Given the description of an element on the screen output the (x, y) to click on. 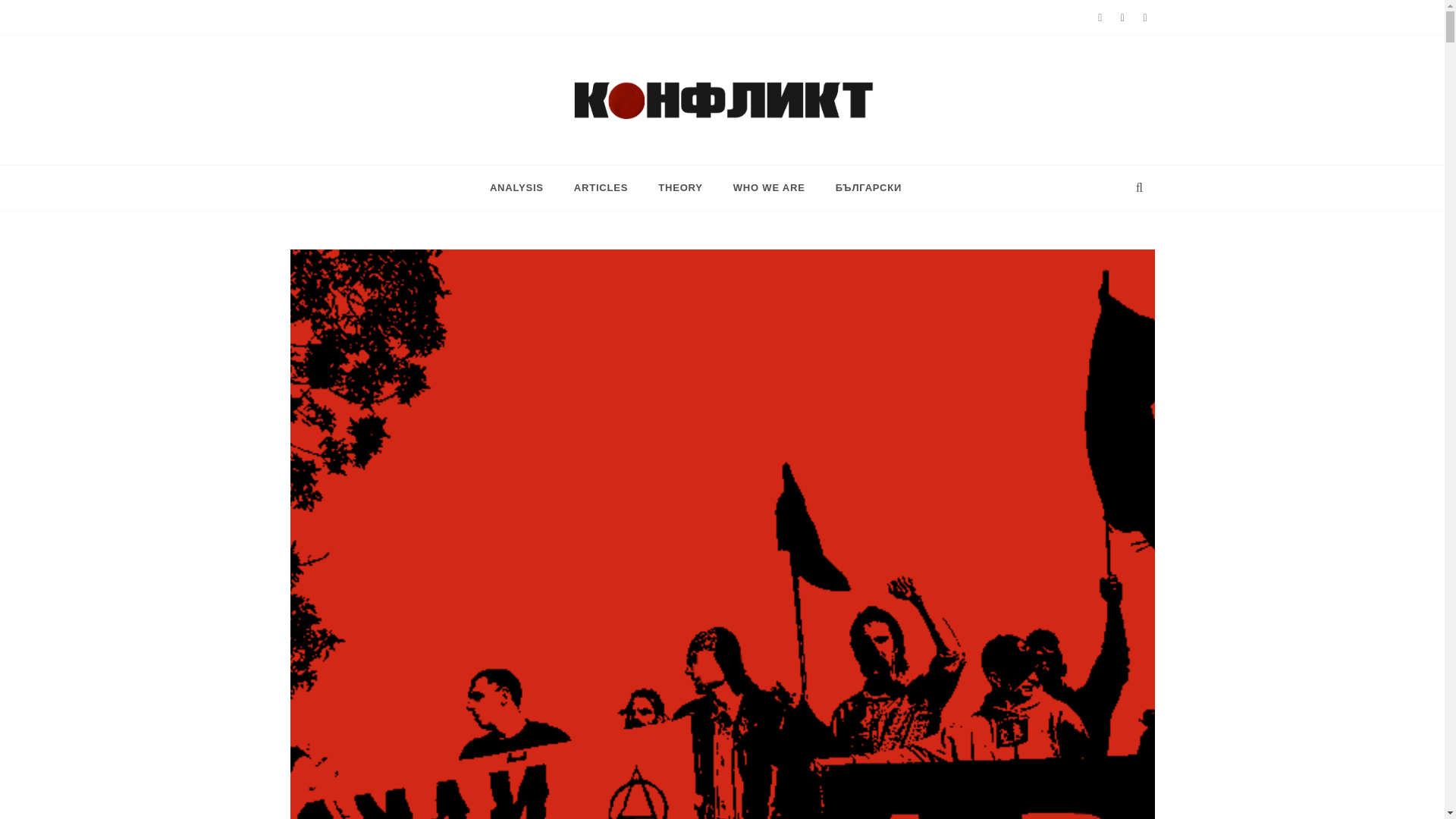
WHO WE ARE (769, 187)
ANALYSIS (524, 187)
Konflikt (607, 138)
ARTICLES (601, 187)
THEORY (680, 187)
